Given the description of an element on the screen output the (x, y) to click on. 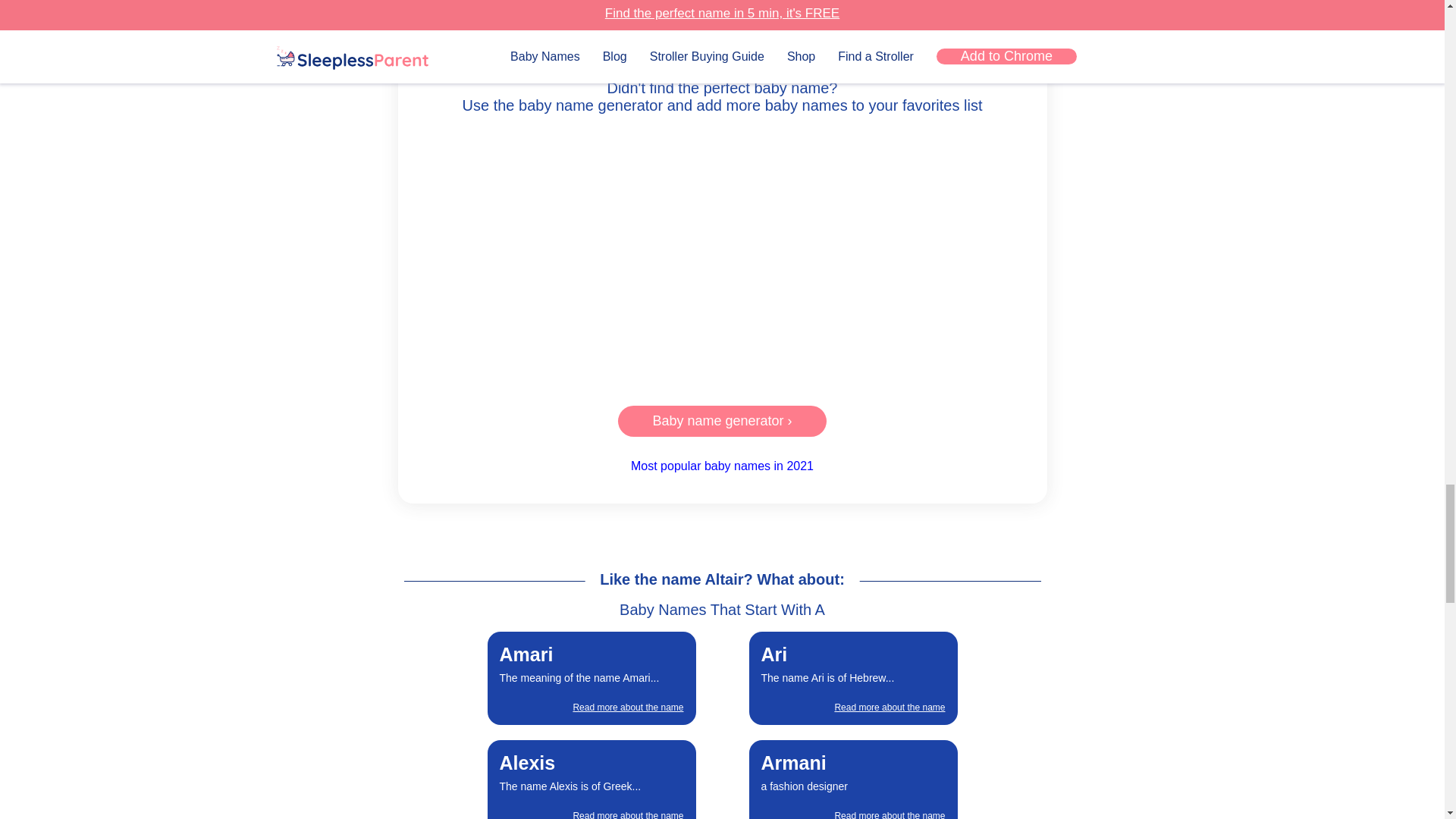
Most popular baby names in 2021 (721, 465)
YouTube video player (721, 256)
